Given the description of an element on the screen output the (x, y) to click on. 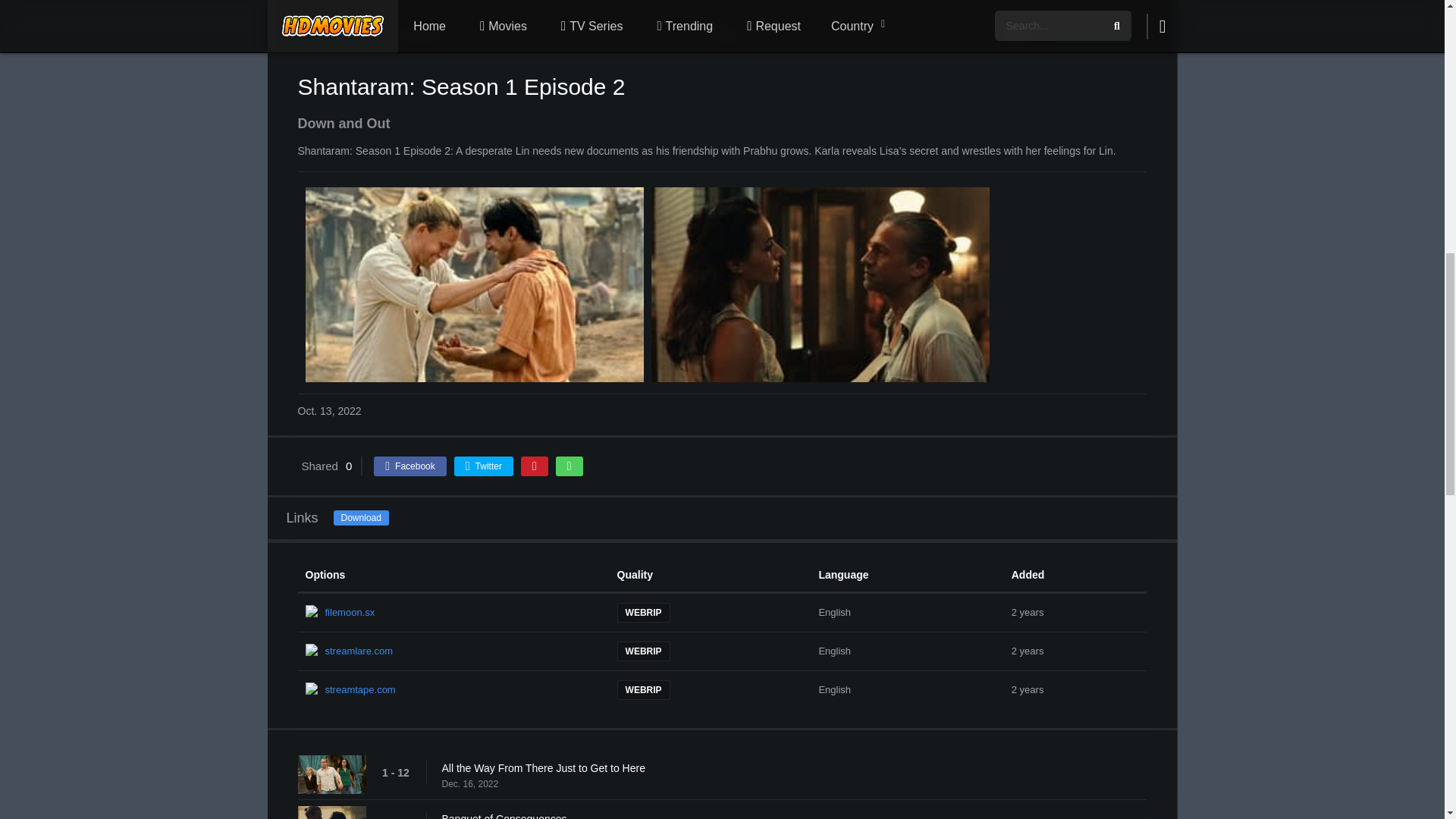
Shantaram (721, 34)
Shantaram: Season 1 Episode 3 (1024, 34)
Shantaram: Season 1 Episode 1 (417, 34)
